Given the description of an element on the screen output the (x, y) to click on. 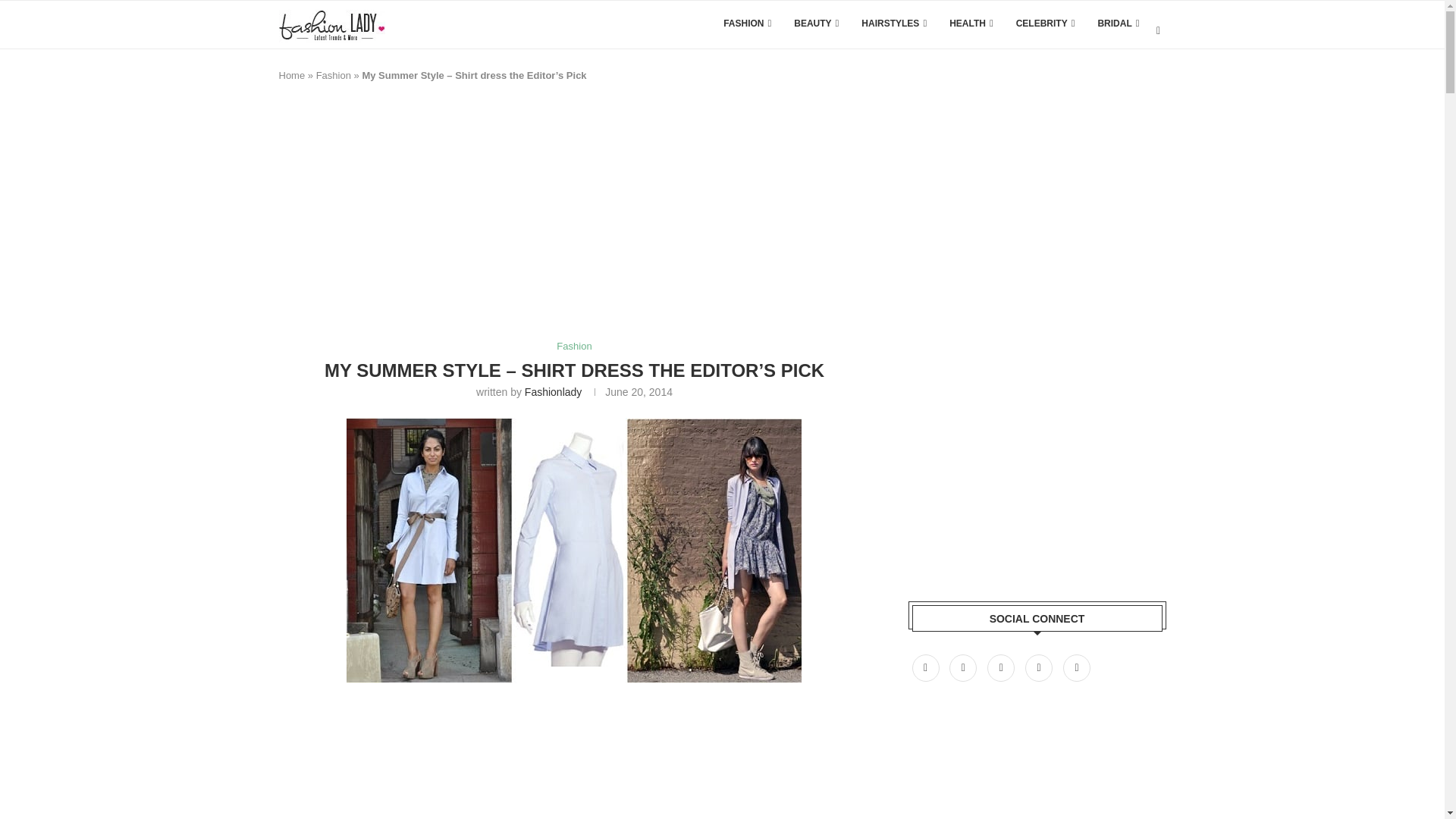
Home (292, 75)
FASHION (747, 22)
HAIRSTYLES (893, 22)
Fashion (332, 75)
shirt-dress-style (574, 550)
HEALTH (970, 22)
Advertisement (555, 764)
BRIDAL (1117, 22)
Fashion (573, 346)
Fashionlady (553, 391)
Advertisement (555, 218)
BEAUTY (815, 22)
CELEBRITY (1045, 22)
